Given the description of an element on the screen output the (x, y) to click on. 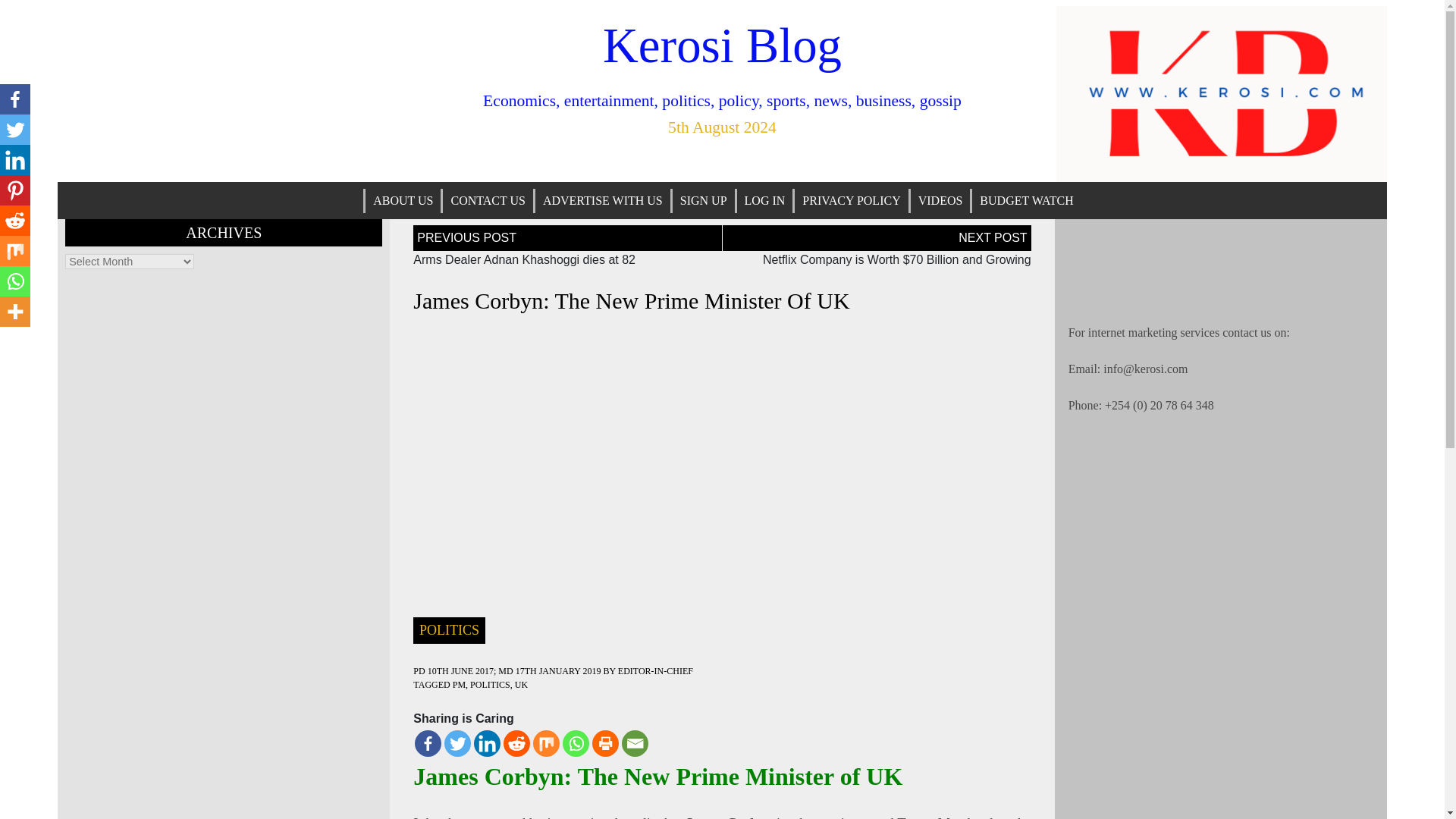
POLITICS (449, 630)
CONTACT US (487, 200)
Linkedin (15, 159)
LOG IN (764, 200)
Reddit (516, 743)
Pinterest (15, 190)
BUDGET WATCH (1026, 200)
Twitter (457, 743)
Mix (15, 250)
Kerosi Blog (721, 45)
Whatsapp (15, 281)
Mix (545, 743)
Arms Dealer Adnan Khashoggi dies at 82 (523, 259)
POLITICS (490, 684)
Whatsapp (575, 743)
